Given the description of an element on the screen output the (x, y) to click on. 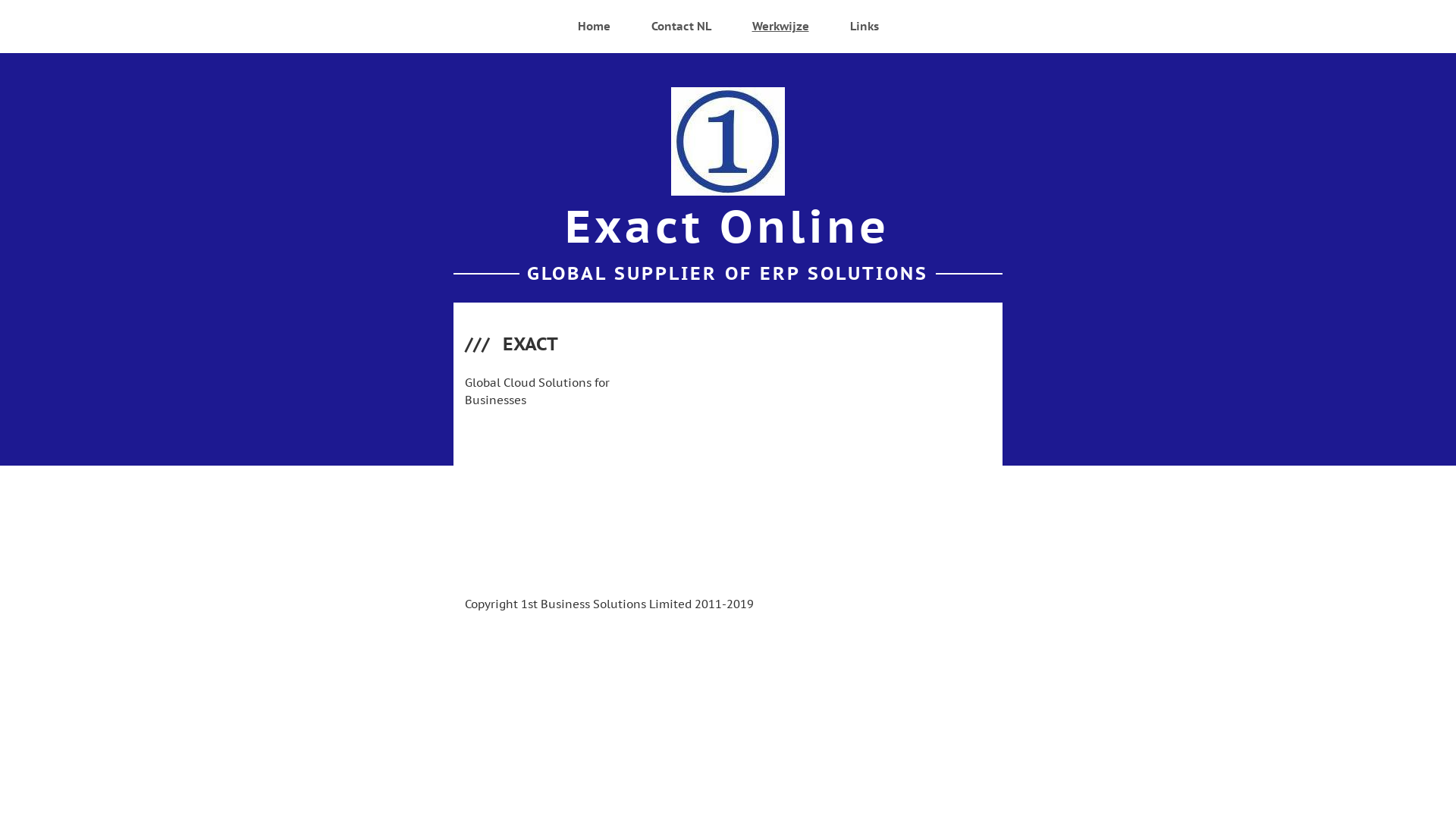
Contact NL Element type: text (680, 26)
Links Element type: text (863, 26)
Home Element type: text (594, 26)
Werkwijze Element type: text (780, 26)
